Given the description of an element on the screen output the (x, y) to click on. 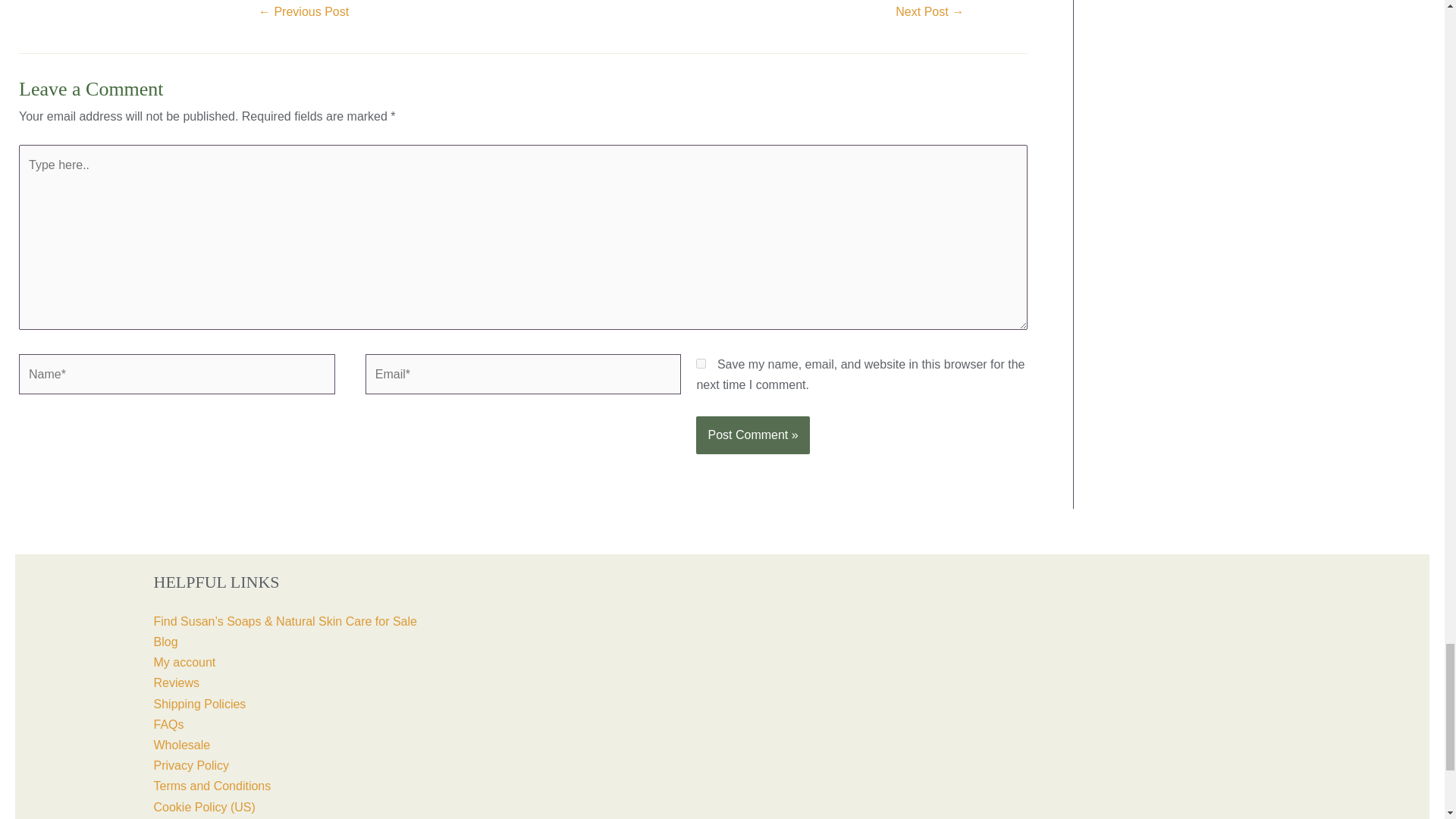
yes (700, 363)
Is Susan's Soaps Lye Soap? (304, 13)
De-stress with bird watching! (929, 13)
